Given the description of an element on the screen output the (x, y) to click on. 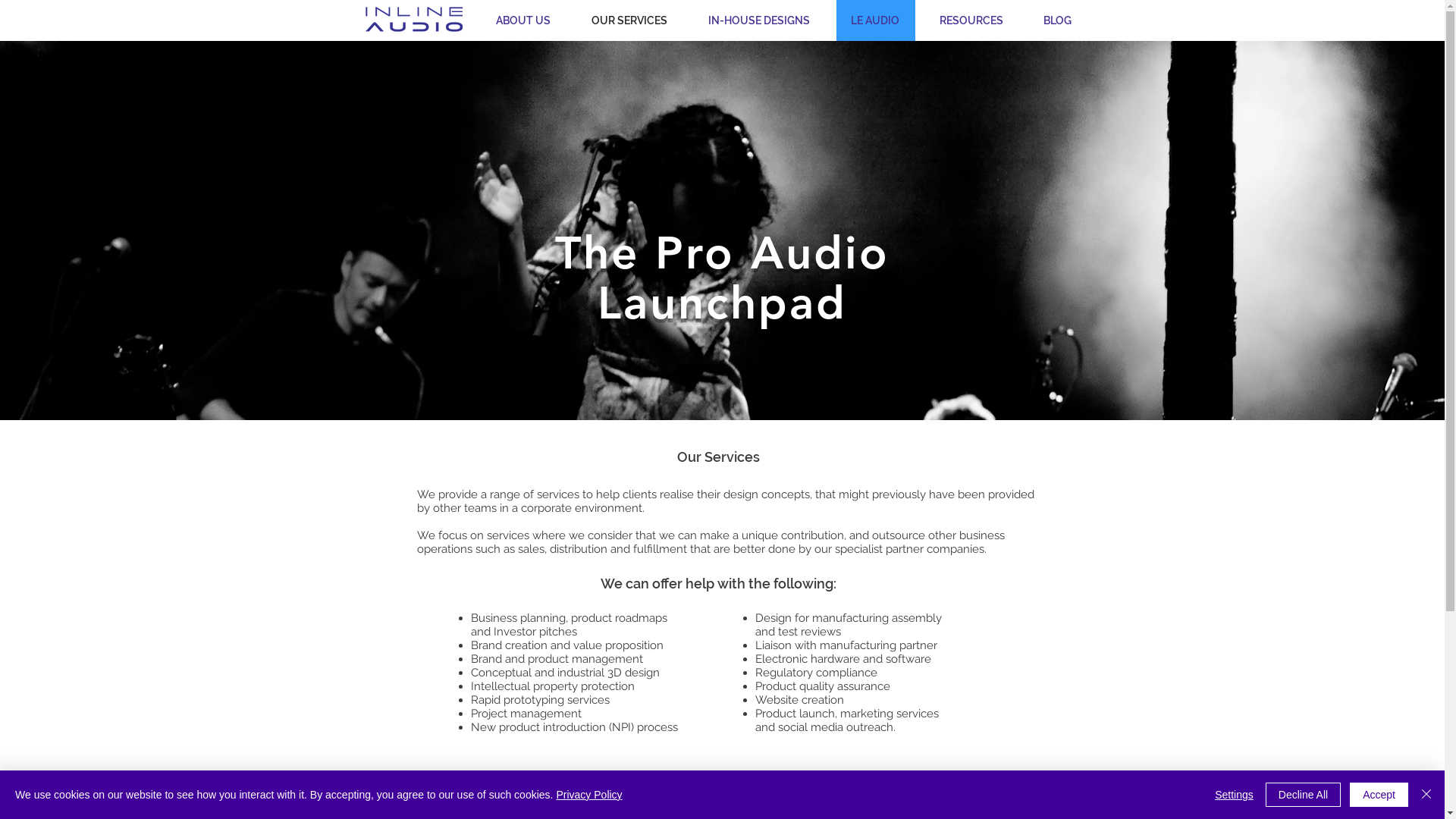
Decline All Element type: text (1302, 794)
IN-HOUSE DESIGNS Element type: text (758, 20)
The Pro Audio Launchpad Element type: text (722, 277)
RESOURCES Element type: text (970, 20)
ABOUT US Element type: text (522, 20)
Privacy Policy Element type: text (588, 794)
LE AUDIO Element type: text (874, 20)
Accept Element type: text (1378, 794)
BLOG Element type: text (1057, 20)
OUR SERVICES Element type: text (628, 20)
